Given the description of an element on the screen output the (x, y) to click on. 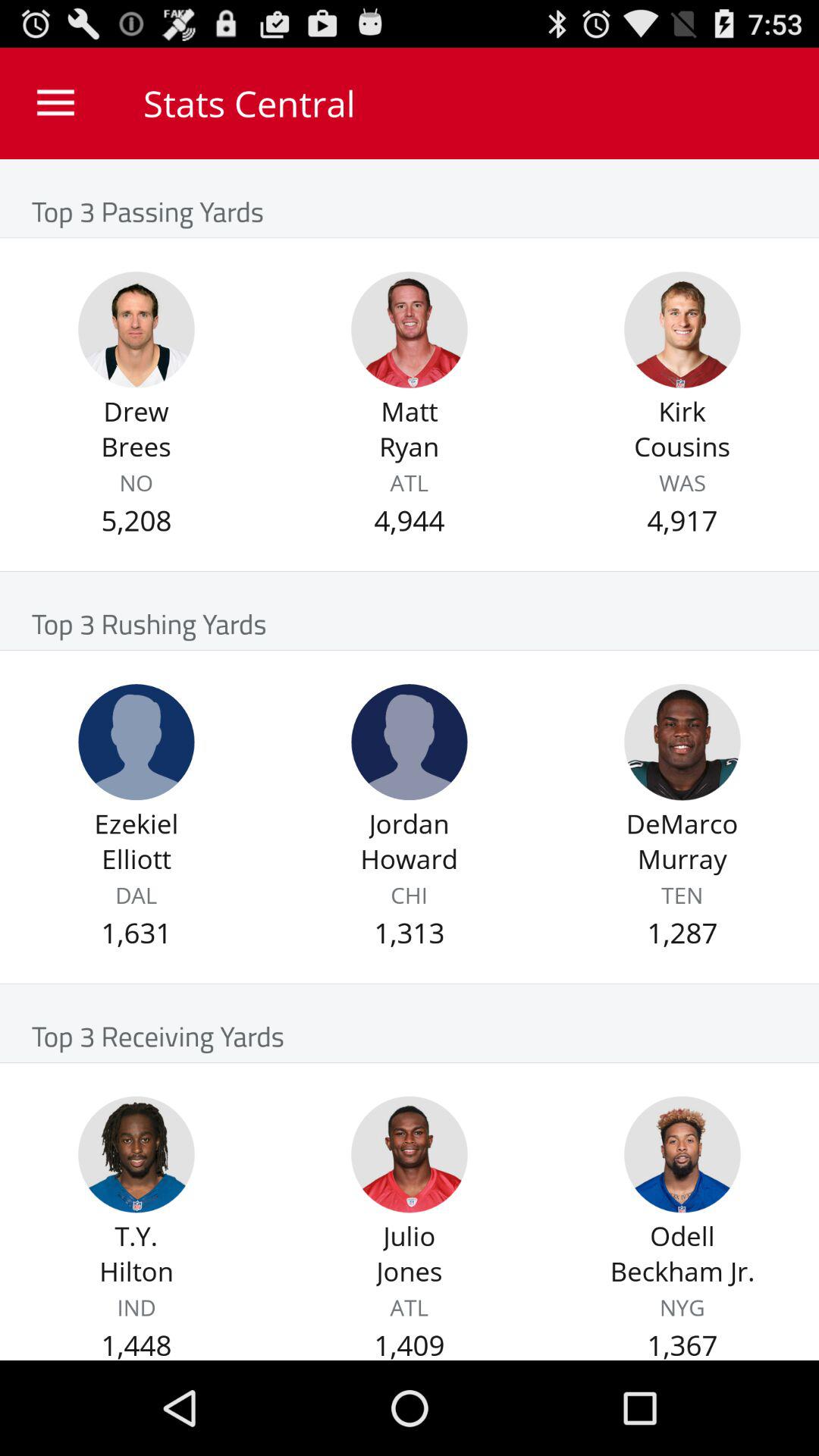
player profile (682, 741)
